Given the description of an element on the screen output the (x, y) to click on. 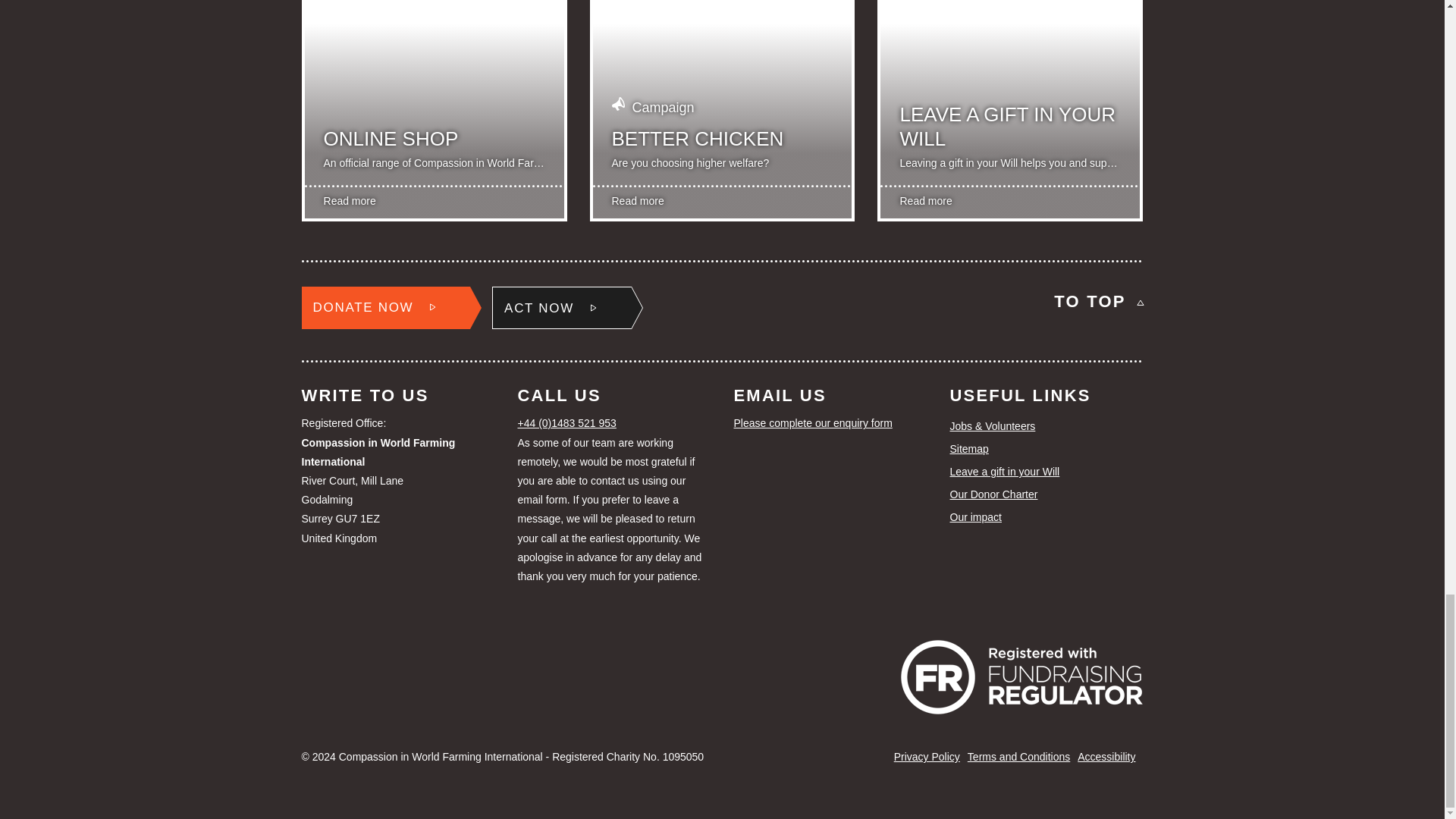
DONATE NOW (385, 307)
TO TOP (1098, 301)
ACT NOW (561, 307)
